Given the description of an element on the screen output the (x, y) to click on. 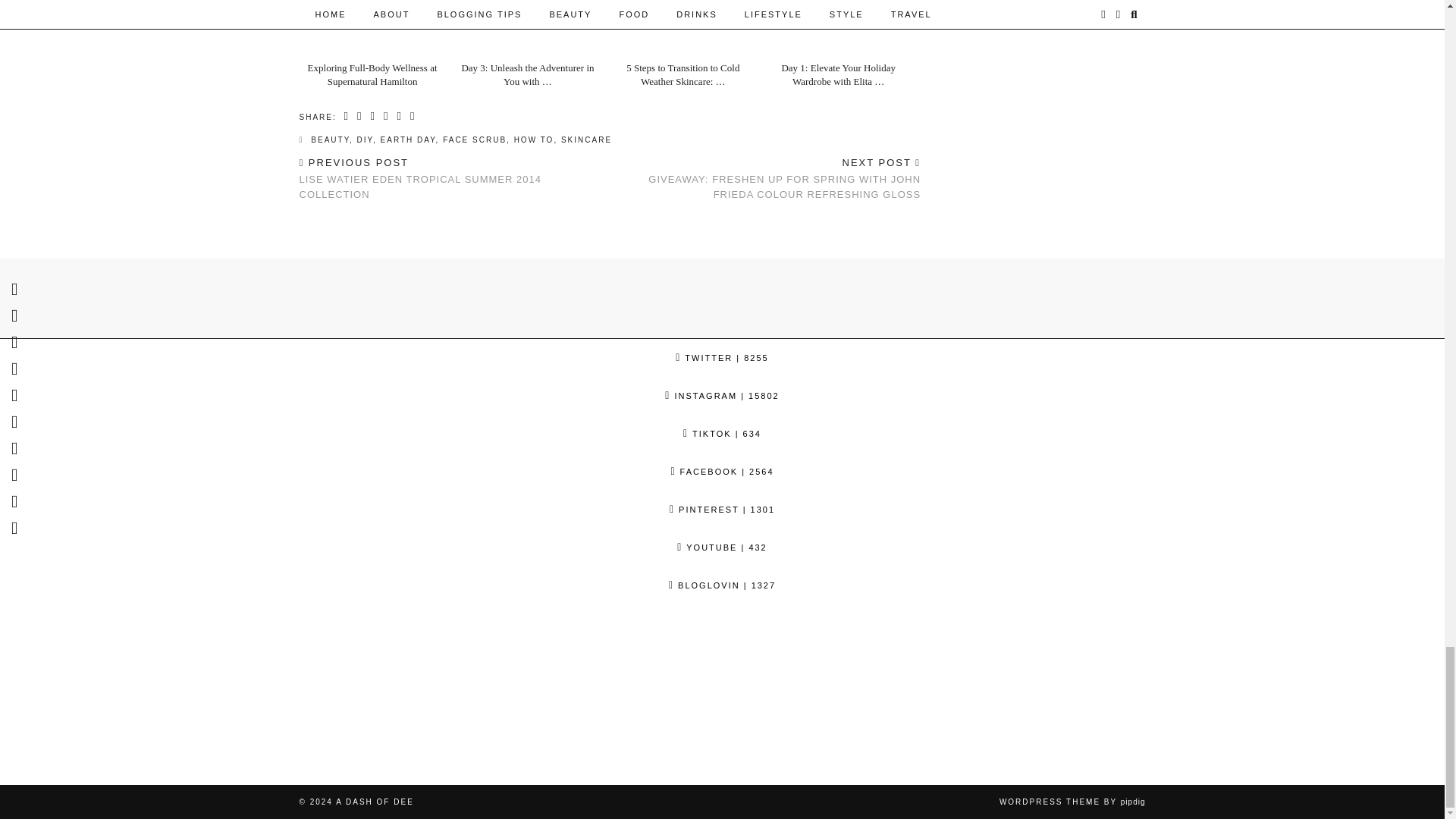
Exploring Full-Body Wellness at Supernatural Hamilton (376, 29)
Exploring Full-Body Wellness at Supernatural Hamilton (372, 74)
